Given the description of an element on the screen output the (x, y) to click on. 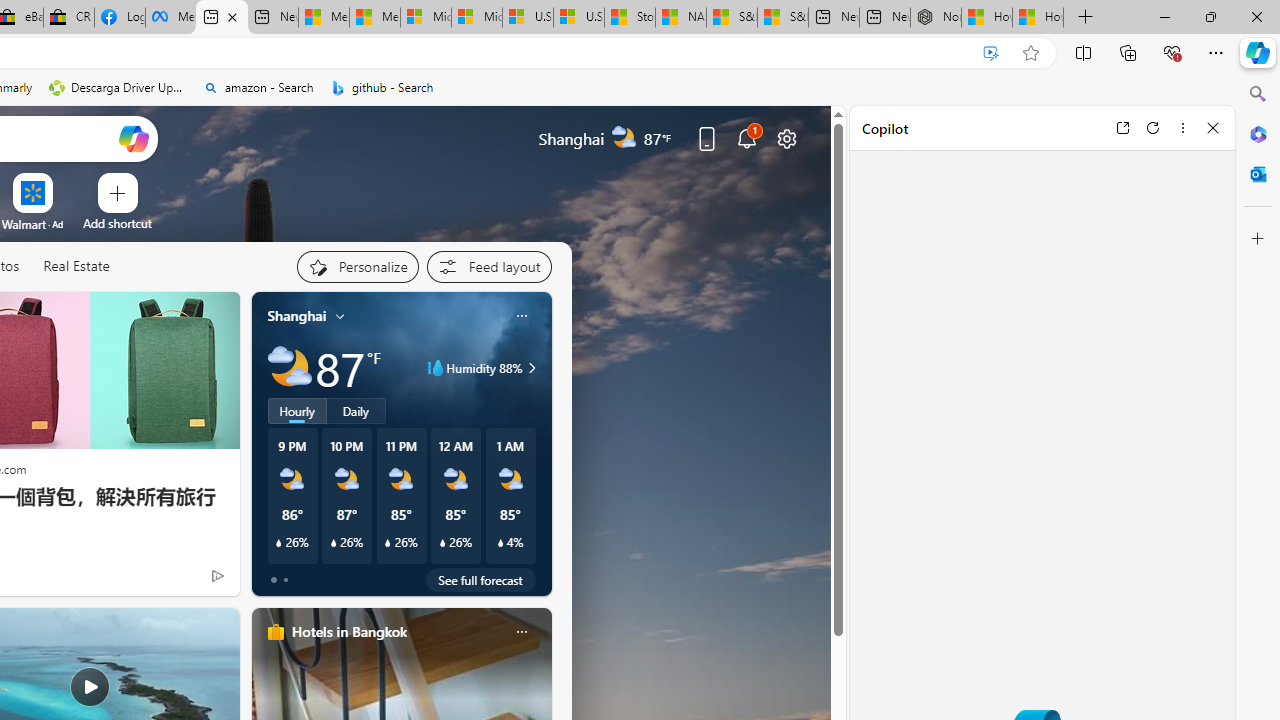
Ad Choice (217, 575)
Open Copilot (132, 138)
See full forecast (480, 579)
Daily (356, 411)
How to Use a Monitor With Your Closed Laptop (1037, 17)
Microsoft 365 (1258, 133)
Restore (1210, 16)
S&P 500, Nasdaq end lower, weighed by Nvidia dip | Watch (782, 17)
Humidity 88% (529, 367)
Partly cloudy (289, 368)
My location (340, 315)
